Given the description of an element on the screen output the (x, y) to click on. 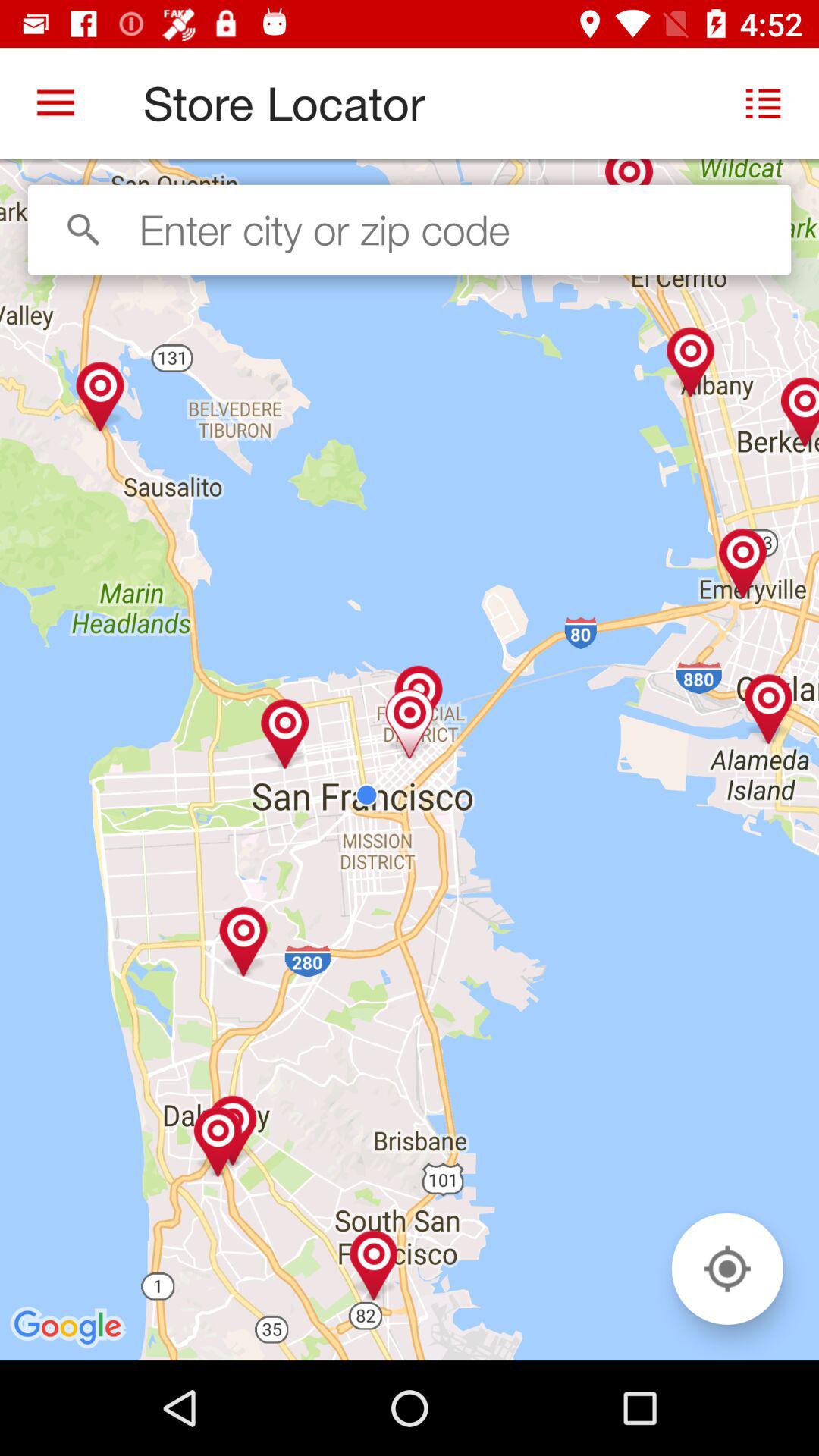
click the item at the top left corner (55, 103)
